Given the description of an element on the screen output the (x, y) to click on. 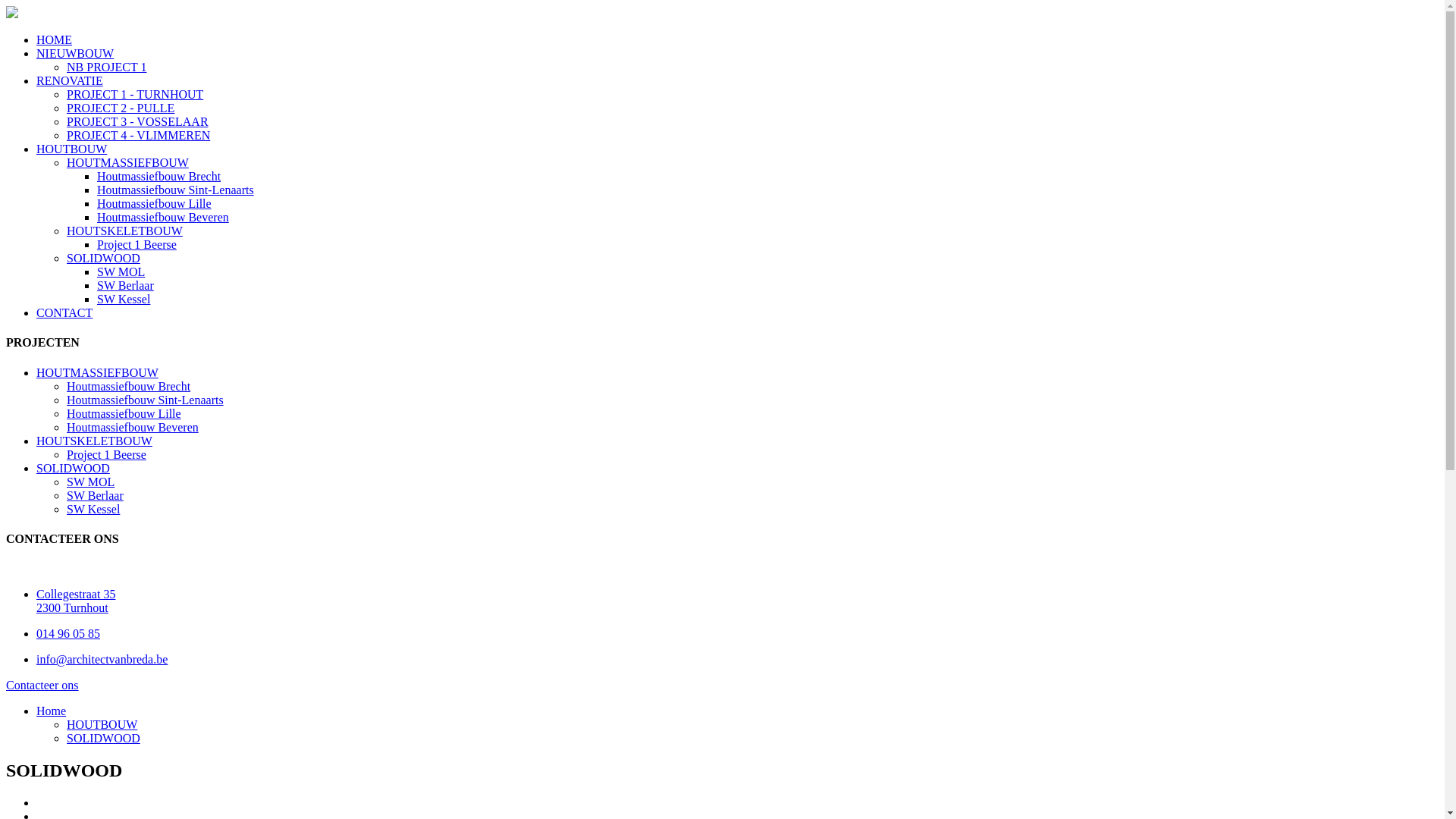
PROJECT 3 - VOSSELAAR Element type: text (137, 121)
PROJECT 1 - TURNHOUT Element type: text (134, 93)
SW MOL Element type: text (90, 481)
HOUTSKELETBOUW Element type: text (124, 230)
Project 1 Beerse Element type: text (106, 454)
SW Berlaar Element type: text (94, 495)
Houtmassiefbouw Brecht Element type: text (128, 385)
Houtmassiefbouw Lille Element type: text (123, 413)
HOUTMASSIEFBOUW Element type: text (127, 162)
Houtmassiefbouw Sint-Lenaarts Element type: text (144, 399)
Houtmassiefbouw Lille Element type: text (154, 203)
SOLIDWOOD Element type: text (103, 257)
RENOVATIE Element type: text (69, 80)
014 96 05 85 Element type: text (68, 633)
Contacteer ons Element type: text (42, 684)
SW Berlaar Element type: text (125, 285)
HOUTBOUW Element type: text (71, 148)
CONTACT Element type: text (64, 312)
HOME Element type: text (54, 39)
NB PROJECT 1 Element type: text (106, 66)
SOLIDWOOD Element type: text (72, 467)
HOUTSKELETBOUW Element type: text (94, 440)
Project 1 Beerse Element type: text (136, 244)
SW Kessel Element type: text (123, 298)
PROJECT 4 - VLIMMEREN Element type: text (138, 134)
Houtmassiefbouw Brecht Element type: text (158, 175)
HOUTMASSIEFBOUW Element type: text (97, 372)
SW MOL Element type: text (120, 271)
PROJECT 2 - PULLE Element type: text (120, 107)
info@architectvanbreda.be Element type: text (101, 658)
Houtmassiefbouw Beveren Element type: text (163, 216)
Houtmassiefbouw Beveren Element type: text (132, 426)
Houtmassiefbouw Sint-Lenaarts Element type: text (175, 189)
Home Element type: text (50, 710)
NIEUWBOUW Element type: text (74, 53)
SOLIDWOOD Element type: text (103, 737)
SW Kessel Element type: text (92, 508)
Collegestraat 35
2300 Turnhout Element type: text (75, 600)
HOUTBOUW Element type: text (101, 724)
